Given the description of an element on the screen output the (x, y) to click on. 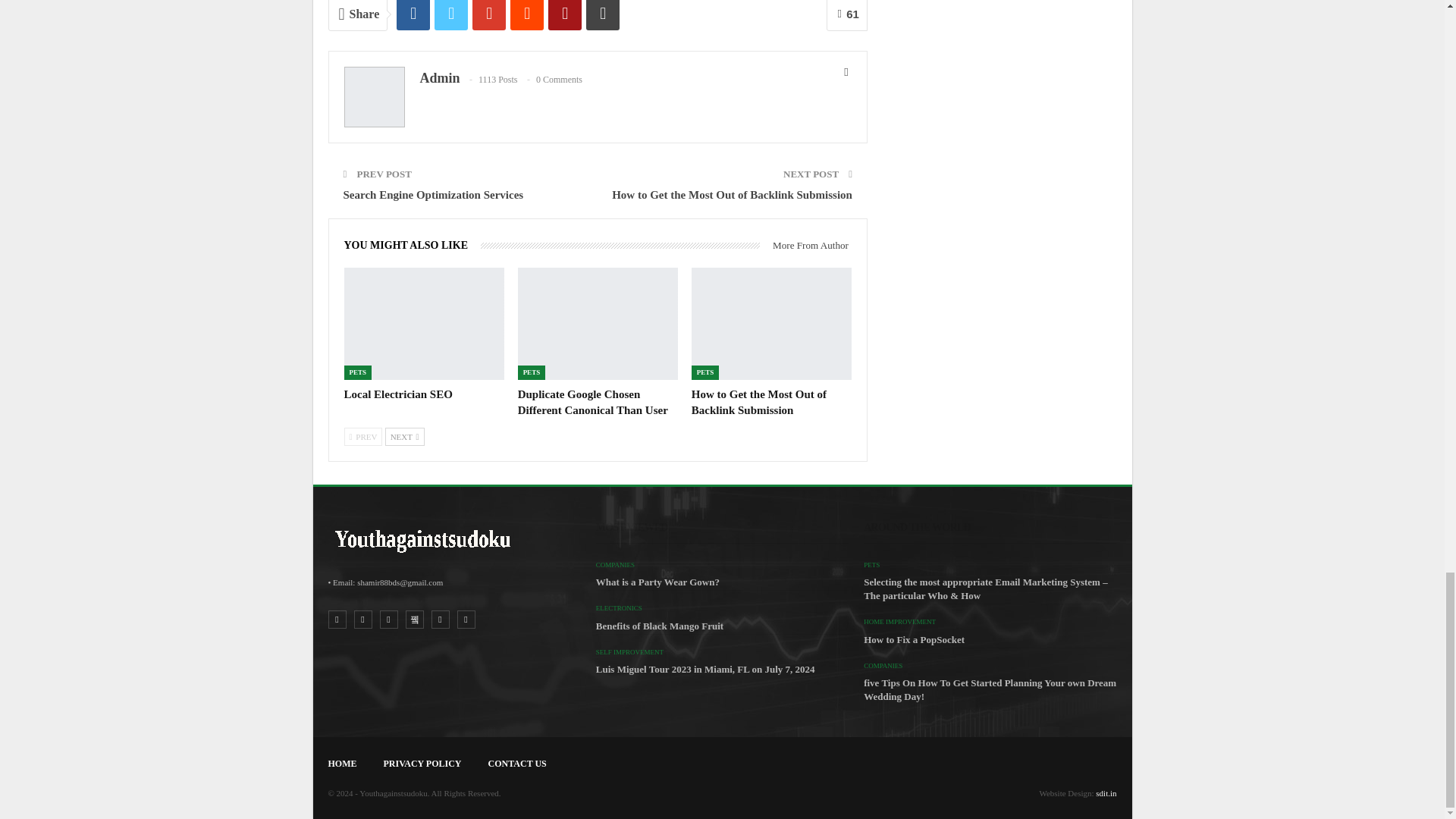
Next (405, 436)
Duplicate Google Chosen Different Canonical Than User (593, 402)
How to Get the Most Out of Backlink Submission (759, 402)
Previous (362, 436)
How to Get the Most Out of Backlink Submission (771, 323)
Local Electrician SEO (397, 394)
Duplicate Google Chosen Different Canonical Than User (598, 323)
Local Electrician SEO (423, 323)
